Given the description of an element on the screen output the (x, y) to click on. 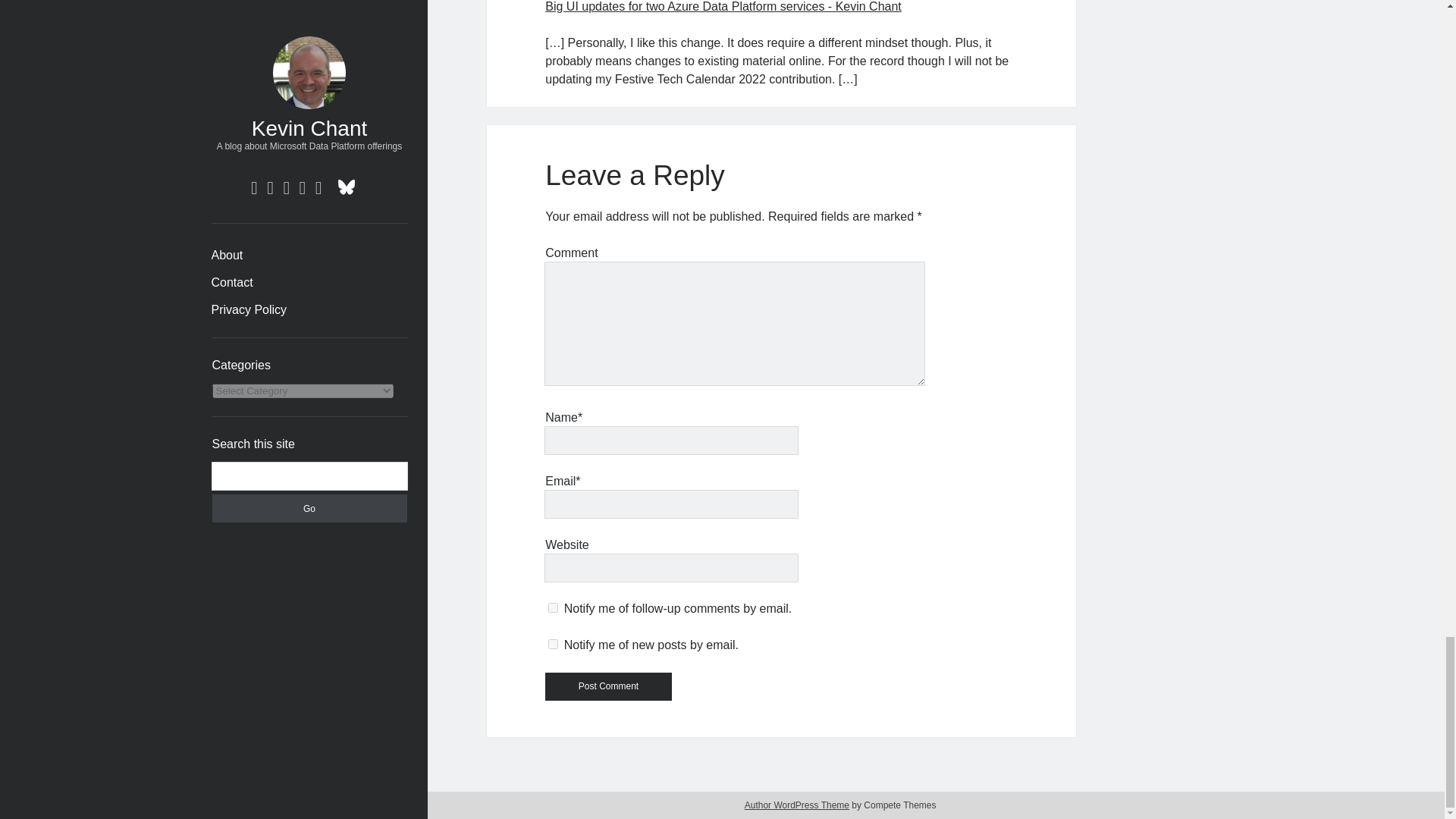
subscribe (552, 644)
Post Comment (607, 686)
subscribe (552, 607)
